Given the description of an element on the screen output the (x, y) to click on. 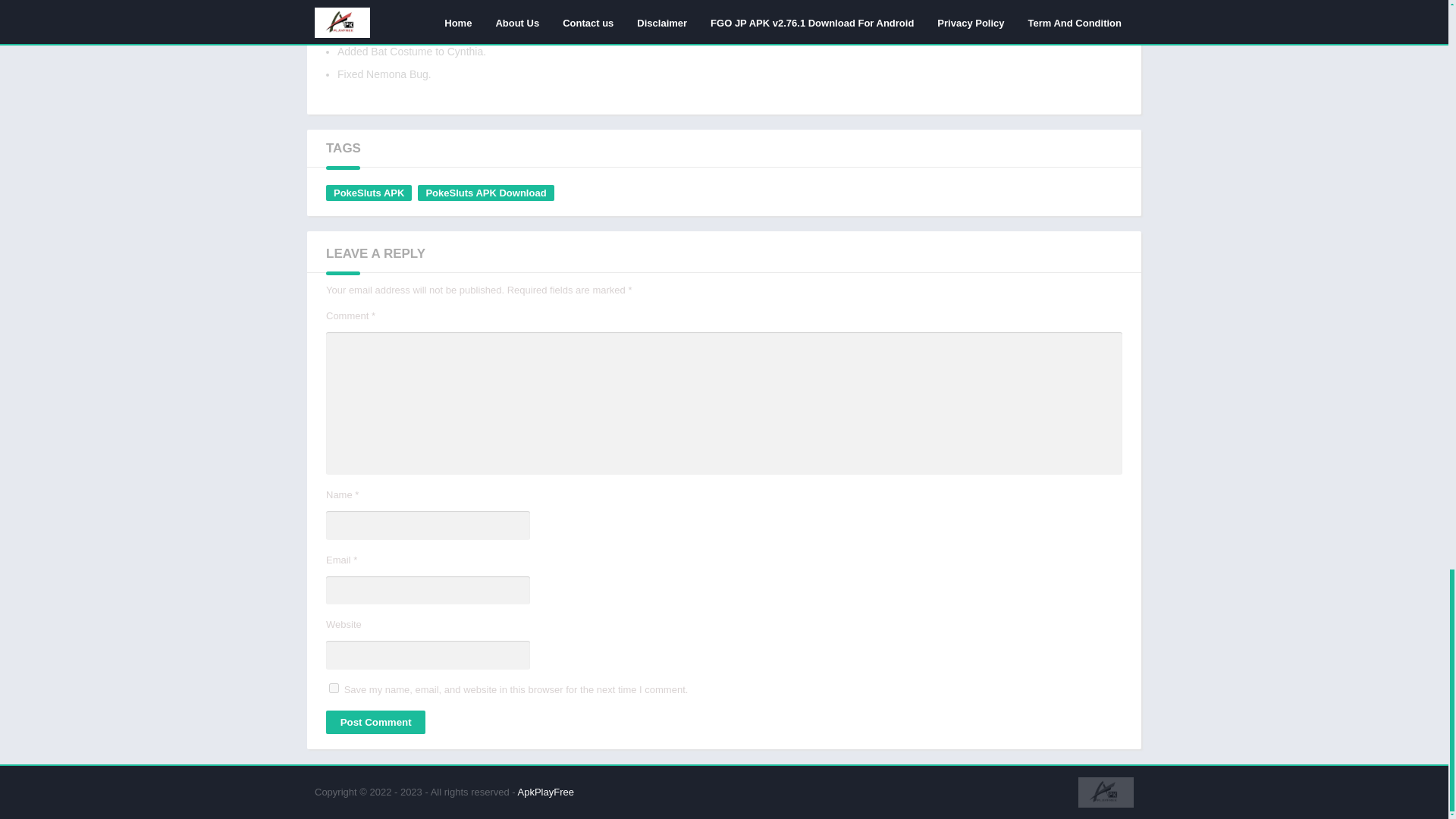
Post Comment (375, 721)
Post Comment (375, 721)
yes (334, 687)
PokeSluts APK (369, 192)
PokeSluts APK Download (485, 192)
ApkPlayFree (545, 791)
